Given the description of an element on the screen output the (x, y) to click on. 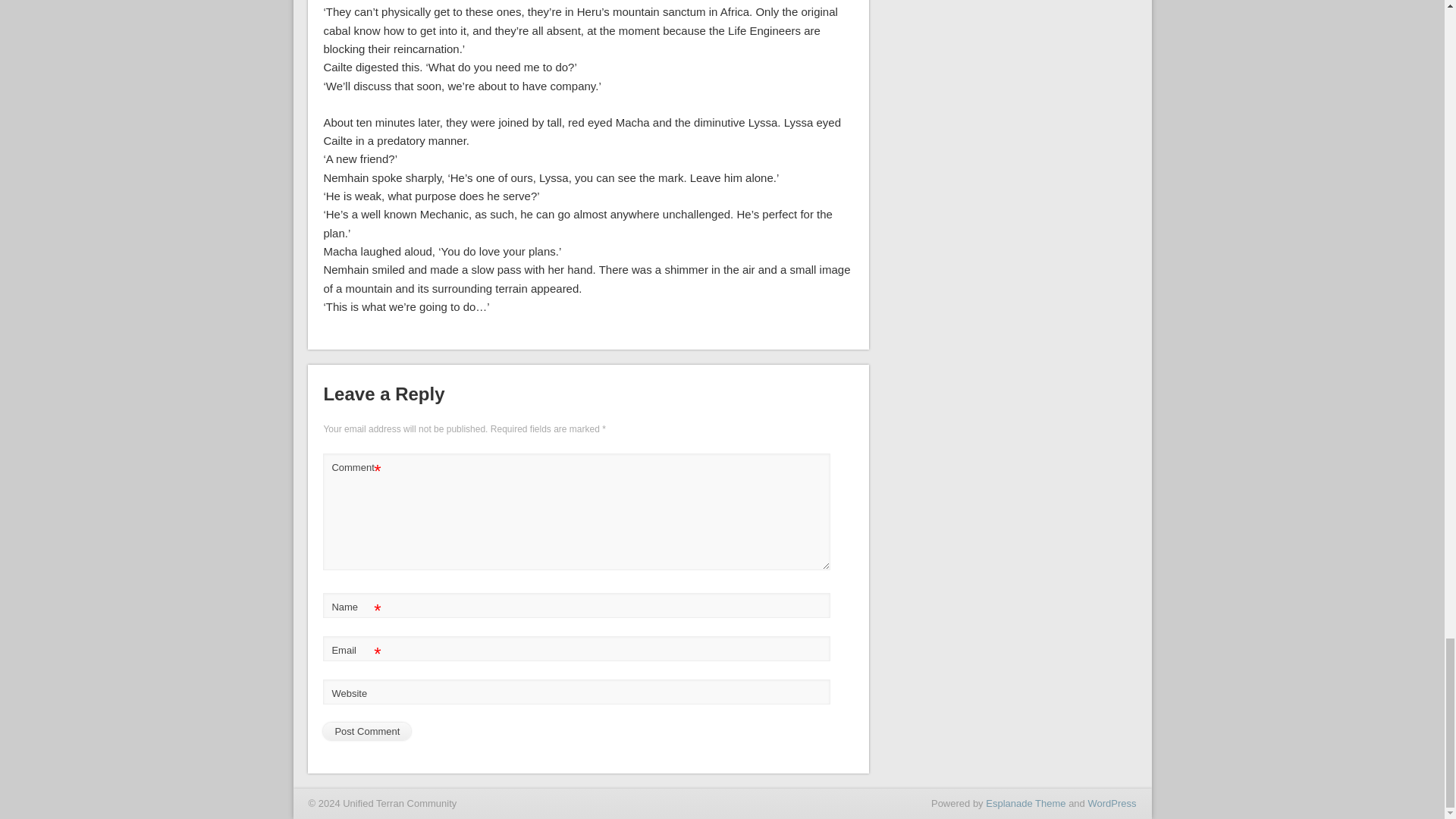
Esplanade Theme (1025, 803)
Post Comment (366, 731)
Post Comment (366, 731)
WordPress (1111, 803)
